Given the description of an element on the screen output the (x, y) to click on. 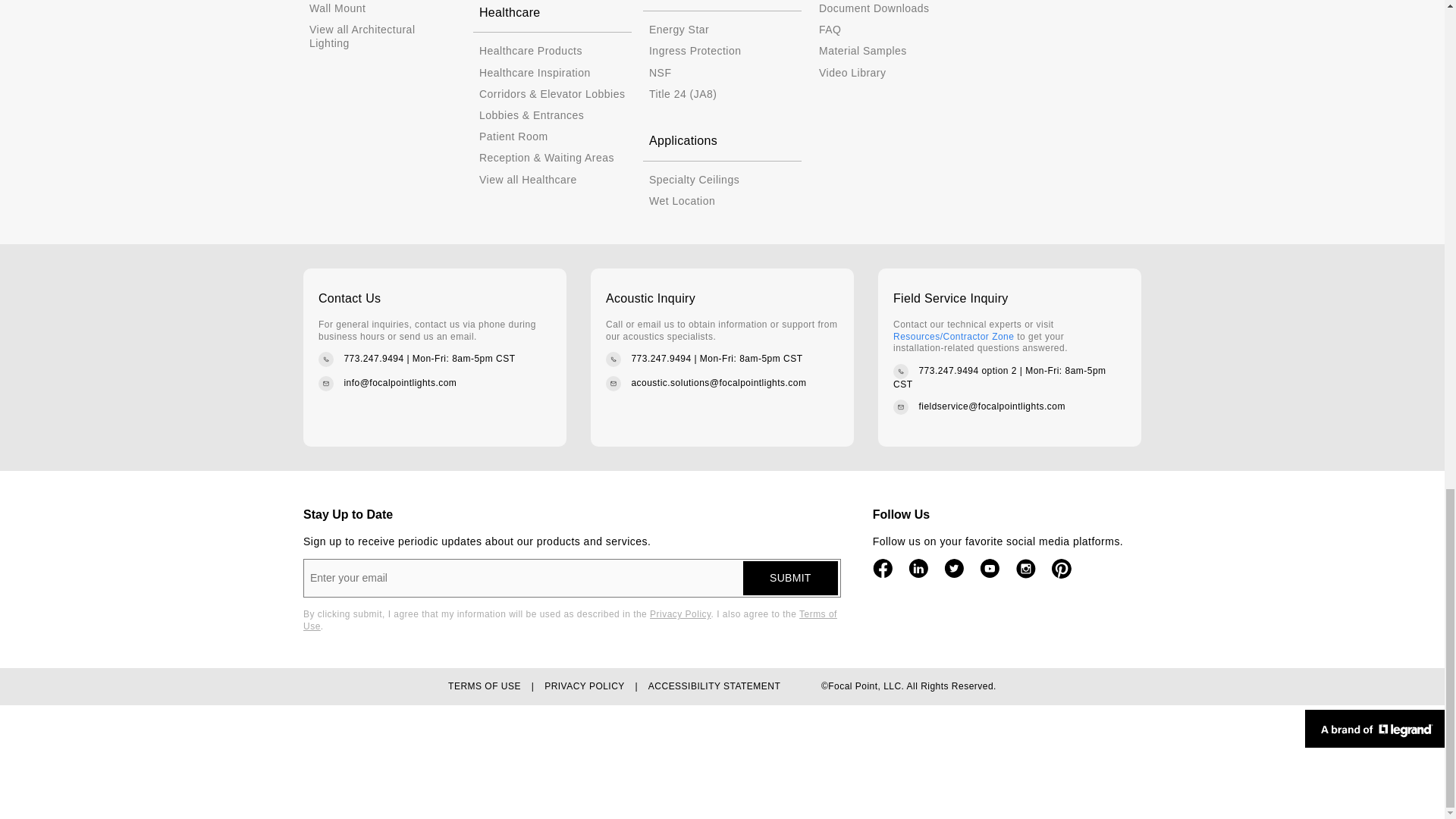
Submit (790, 578)
